Given the description of an element on the screen output the (x, y) to click on. 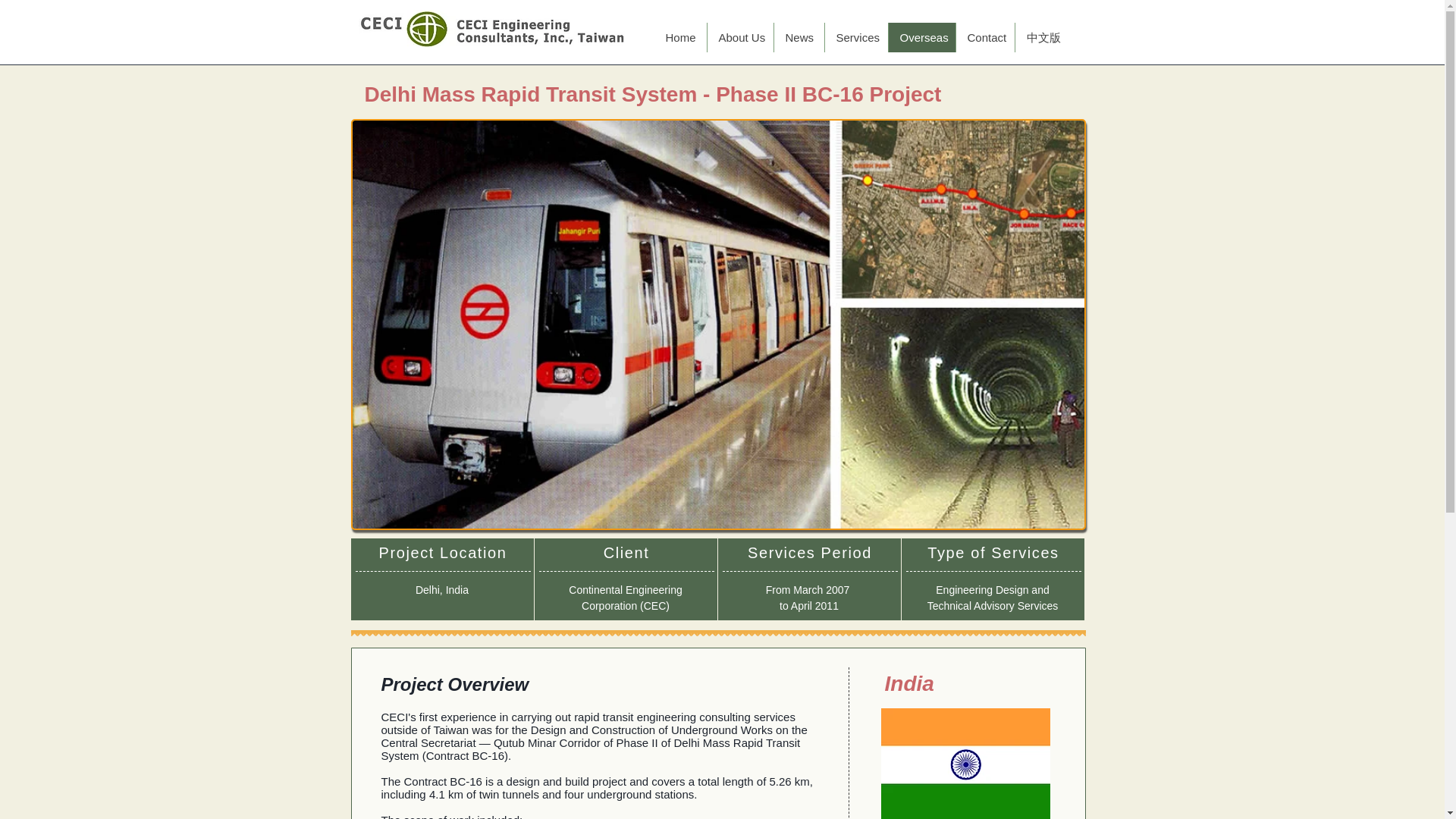
News (798, 37)
About Us (739, 37)
Home (679, 37)
Contact (984, 37)
Services (855, 37)
Overseas (920, 37)
